Given the description of an element on the screen output the (x, y) to click on. 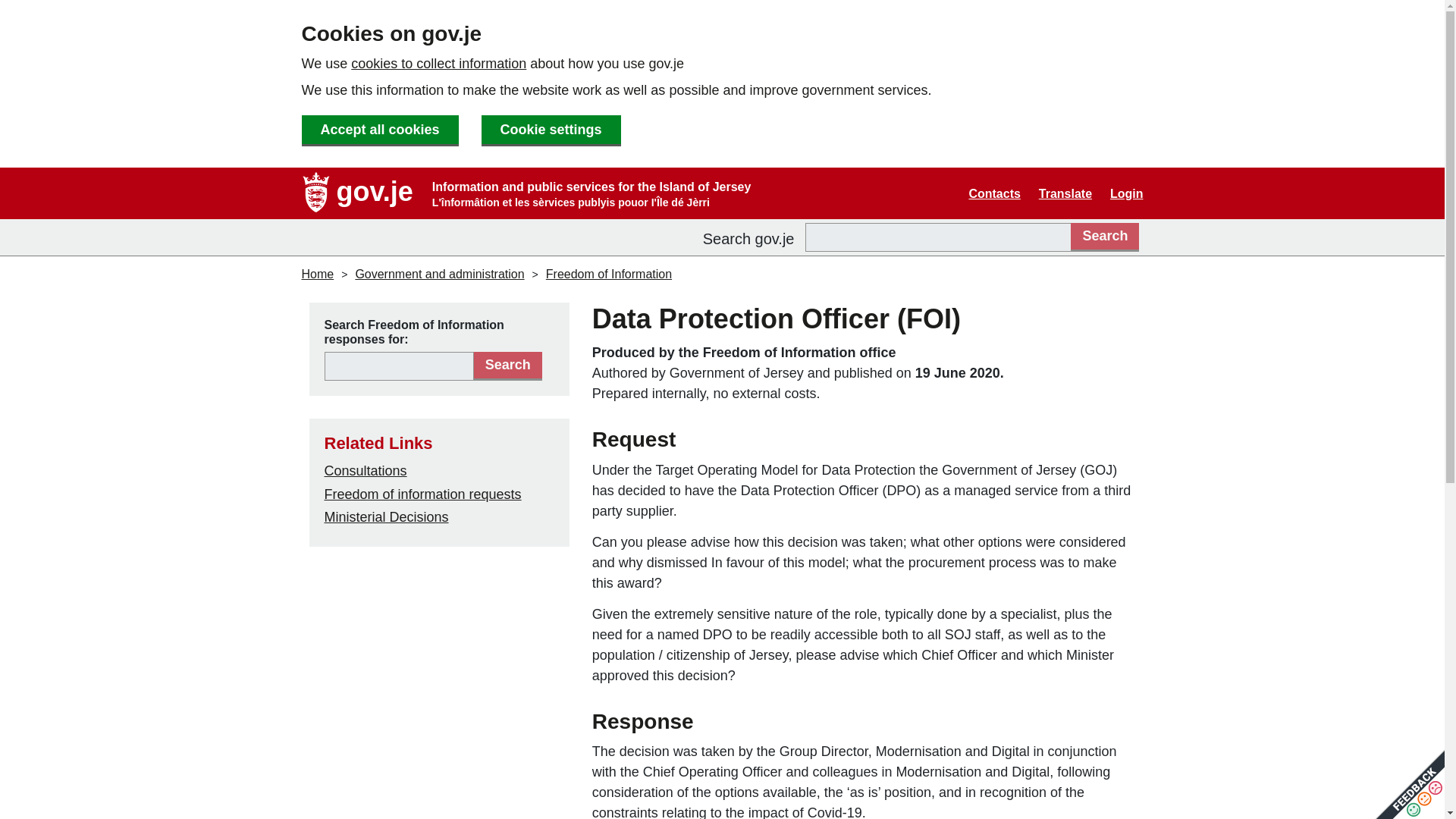
Search (507, 366)
cookies to collect information (437, 63)
Cookie settings (551, 130)
Accept all cookies (379, 130)
